Given the description of an element on the screen output the (x, y) to click on. 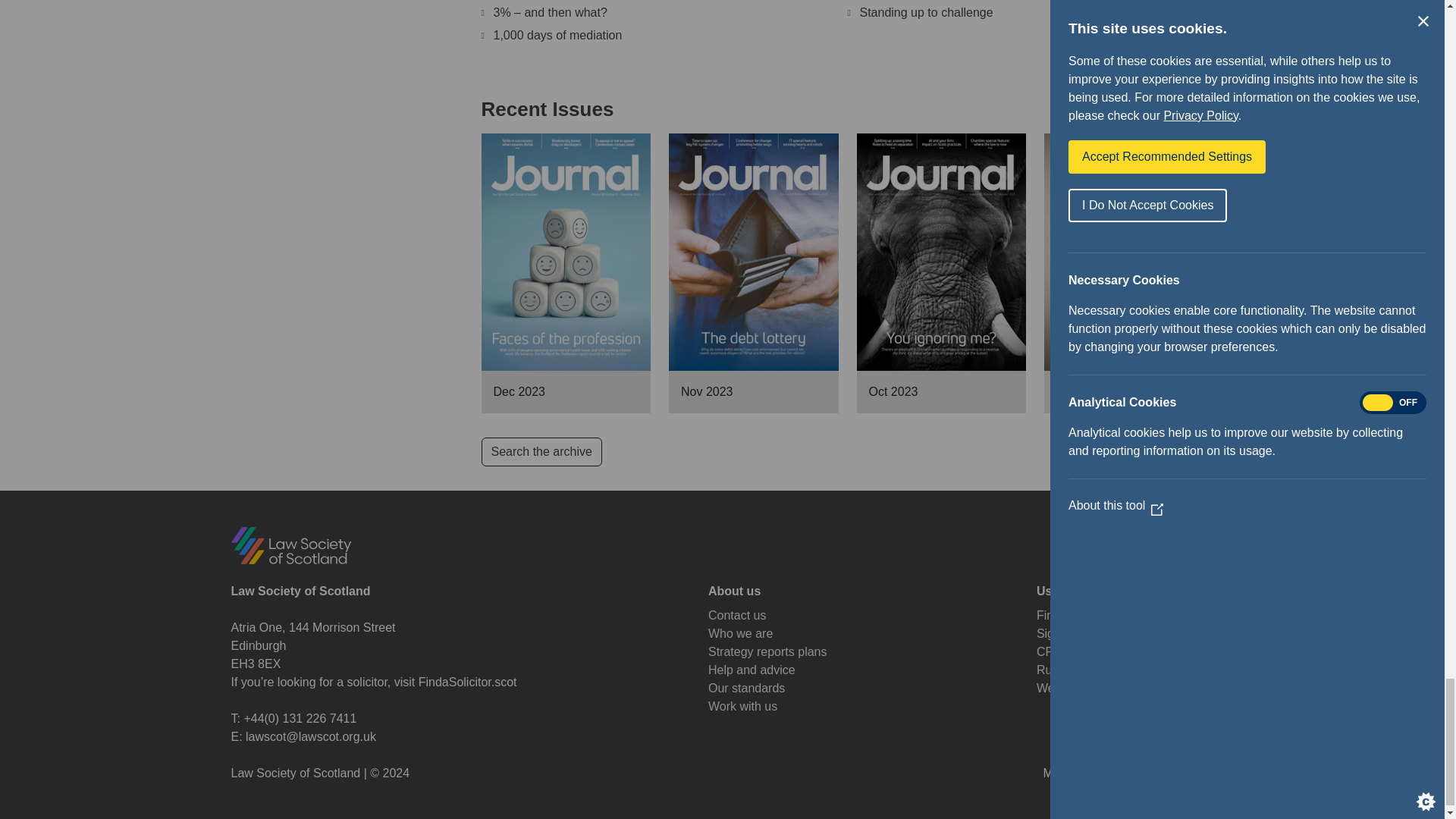
Home (290, 544)
